Given the description of an element on the screen output the (x, y) to click on. 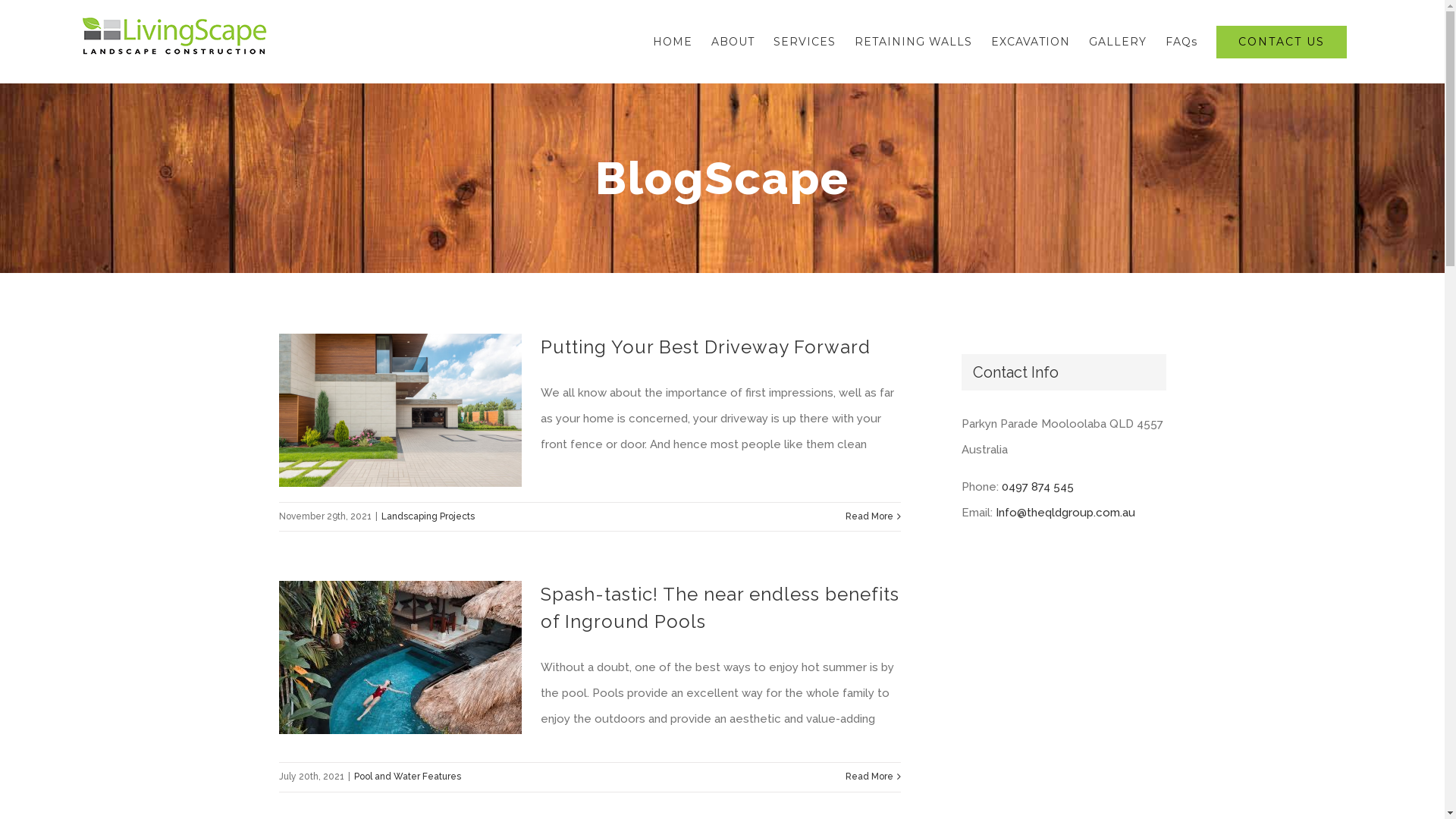
Info@theqldgroup.com.au Element type: text (1065, 512)
ABOUT Element type: text (732, 41)
CONTACT US Element type: text (1281, 41)
Read More Element type: text (869, 776)
RETAINING WALLS Element type: text (913, 41)
FAQs Element type: text (1181, 41)
SERVICES Element type: text (804, 41)
Landscaping Projects Element type: text (426, 516)
GALLERY Element type: text (1117, 41)
Spash-tastic! The near endless benefits of Inground Pools Element type: text (718, 607)
HOME Element type: text (672, 41)
Read More Element type: text (869, 516)
EXCAVATION Element type: text (1030, 41)
Putting Your Best Driveway Forward Element type: text (704, 346)
0497 874 545 Element type: text (1037, 486)
Pool and Water Features Element type: text (406, 776)
